Given the description of an element on the screen output the (x, y) to click on. 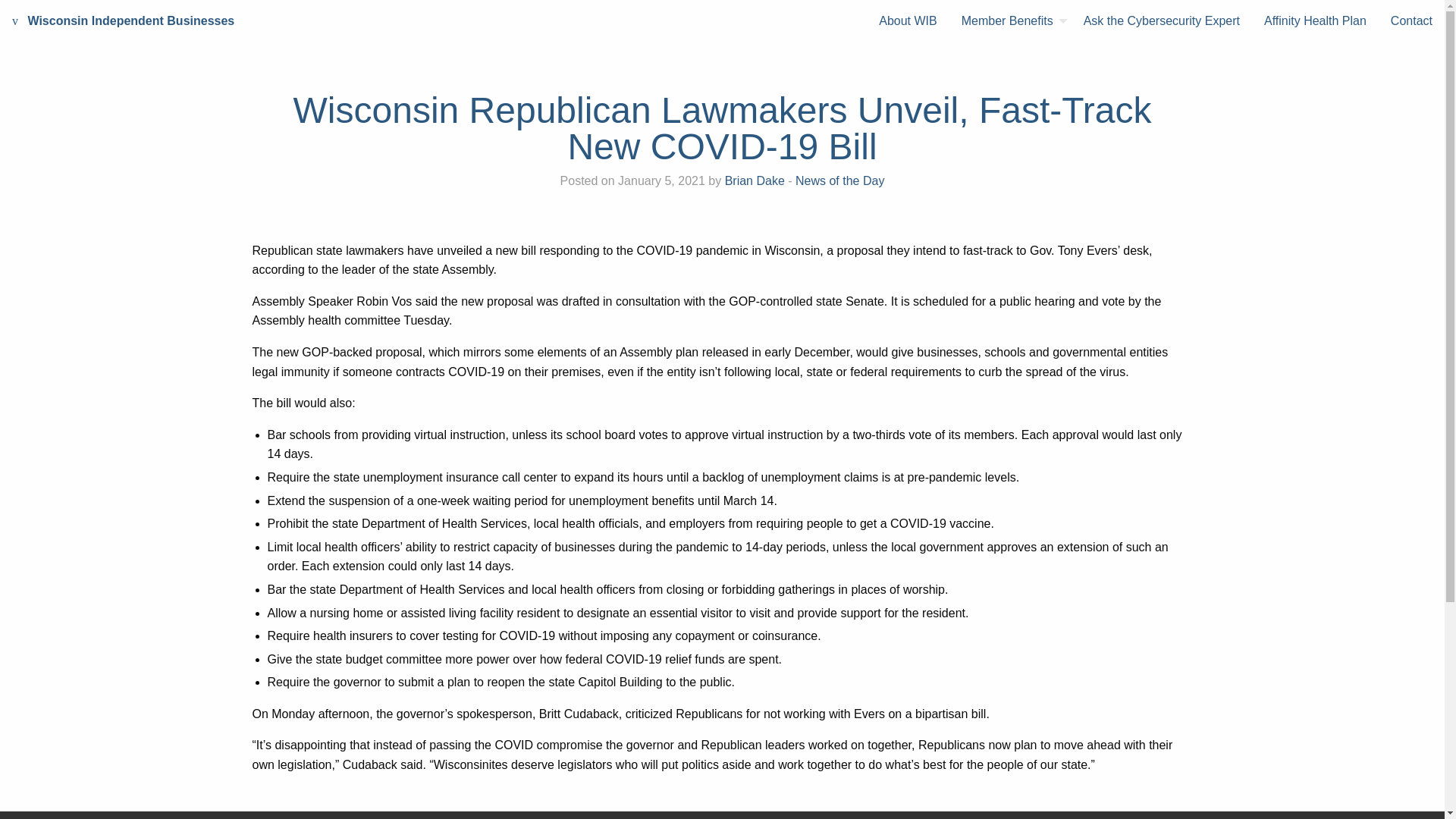
Posts by Brian Dake (754, 180)
Affinity Health Plan (1315, 21)
wisconsin Wisconsin Independent Businesses (123, 21)
News of the Day (838, 180)
About WIB (907, 21)
Ask the Cybersecurity Expert (1161, 21)
Member Benefits (1010, 21)
Brian Dake (754, 180)
